Given the description of an element on the screen output the (x, y) to click on. 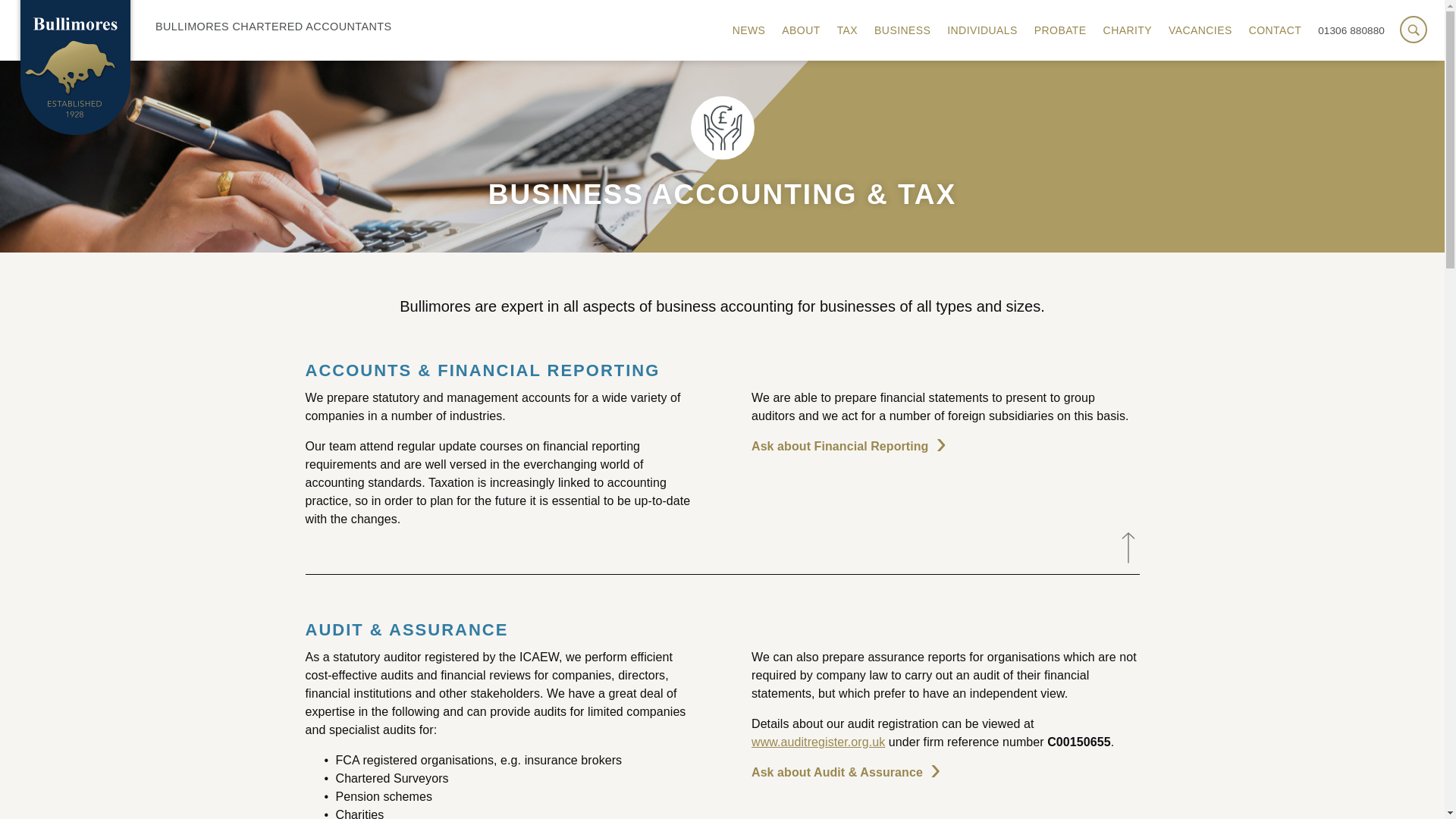
NEWS (748, 30)
BUSINESS (902, 30)
BULLIMORES CHARTERED ACCOUNTANTS (204, 26)
TAX (847, 30)
ABOUT (800, 30)
